Given the description of an element on the screen output the (x, y) to click on. 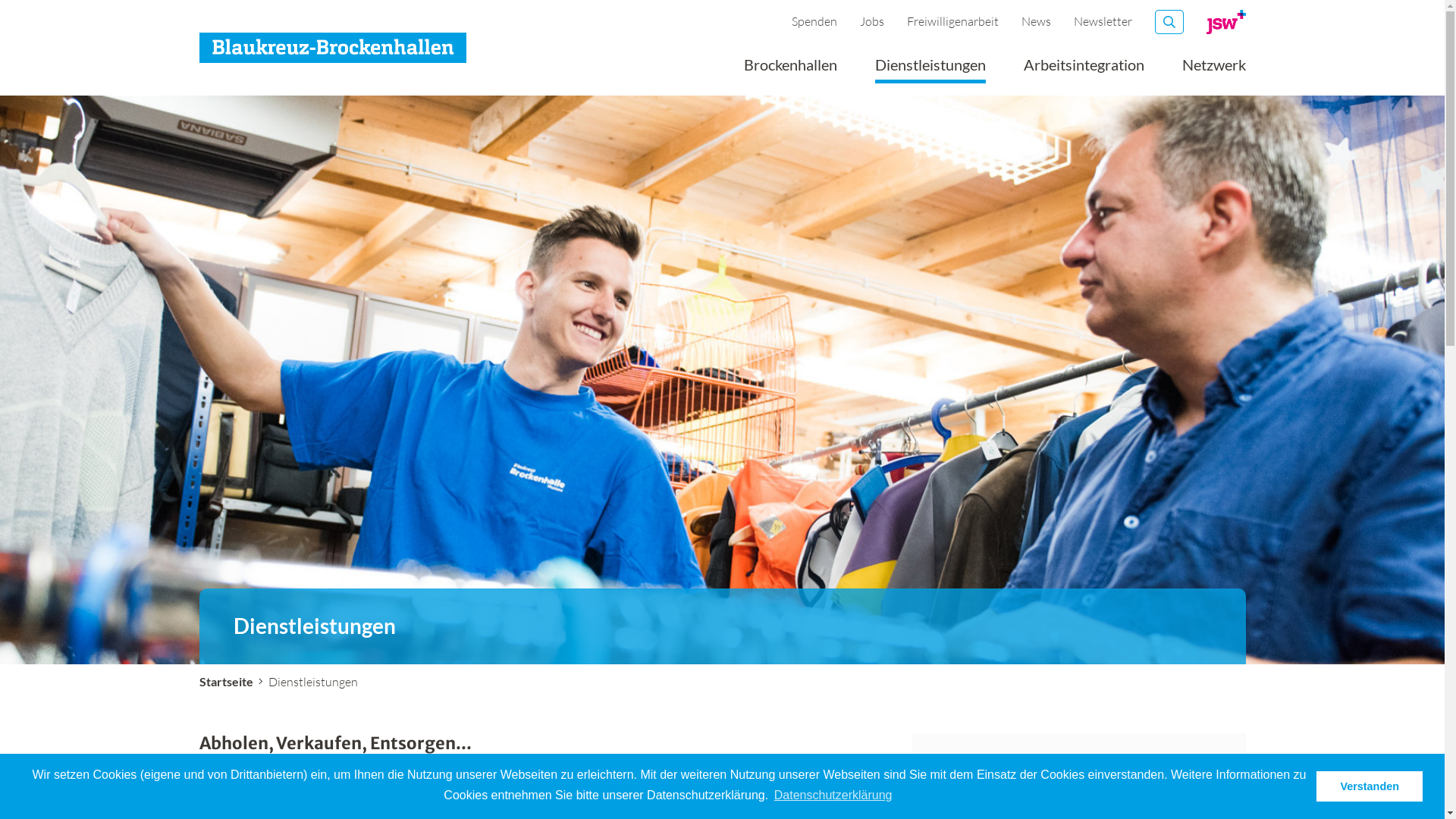
Spenden Element type: text (814, 20)
Newsletter Element type: text (1102, 20)
Netzwerk Element type: text (1213, 69)
Jobs Element type: text (871, 20)
Startseite Element type: text (225, 681)
Verstanden Element type: text (1369, 786)
Verkauf Element type: text (544, 800)
Arbeitsintegration Element type: text (1083, 69)
News Element type: text (1036, 20)
Brockenhallen Element type: text (789, 69)
Dienstleistungen Element type: text (930, 69)
Freiwilligenarbeit Element type: text (952, 20)
